Given the description of an element on the screen output the (x, y) to click on. 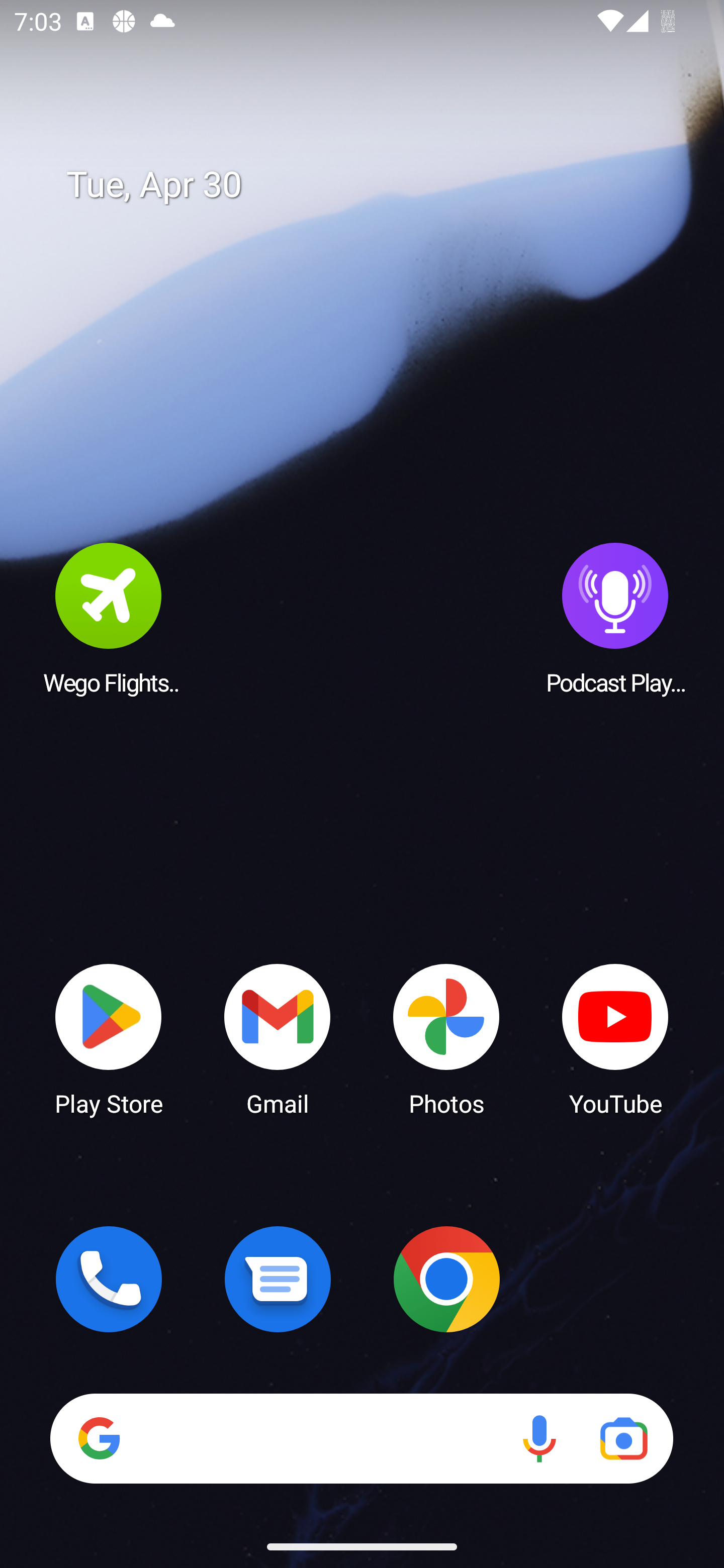
Tue, Apr 30 (375, 184)
Wego Flights & Hotels (108, 617)
Podcast Player (615, 617)
Play Store (108, 1038)
Gmail (277, 1038)
Photos (445, 1038)
YouTube (615, 1038)
Phone (108, 1279)
Messages (277, 1279)
Chrome (446, 1279)
Voice search (539, 1438)
Google Lens (623, 1438)
